Given the description of an element on the screen output the (x, y) to click on. 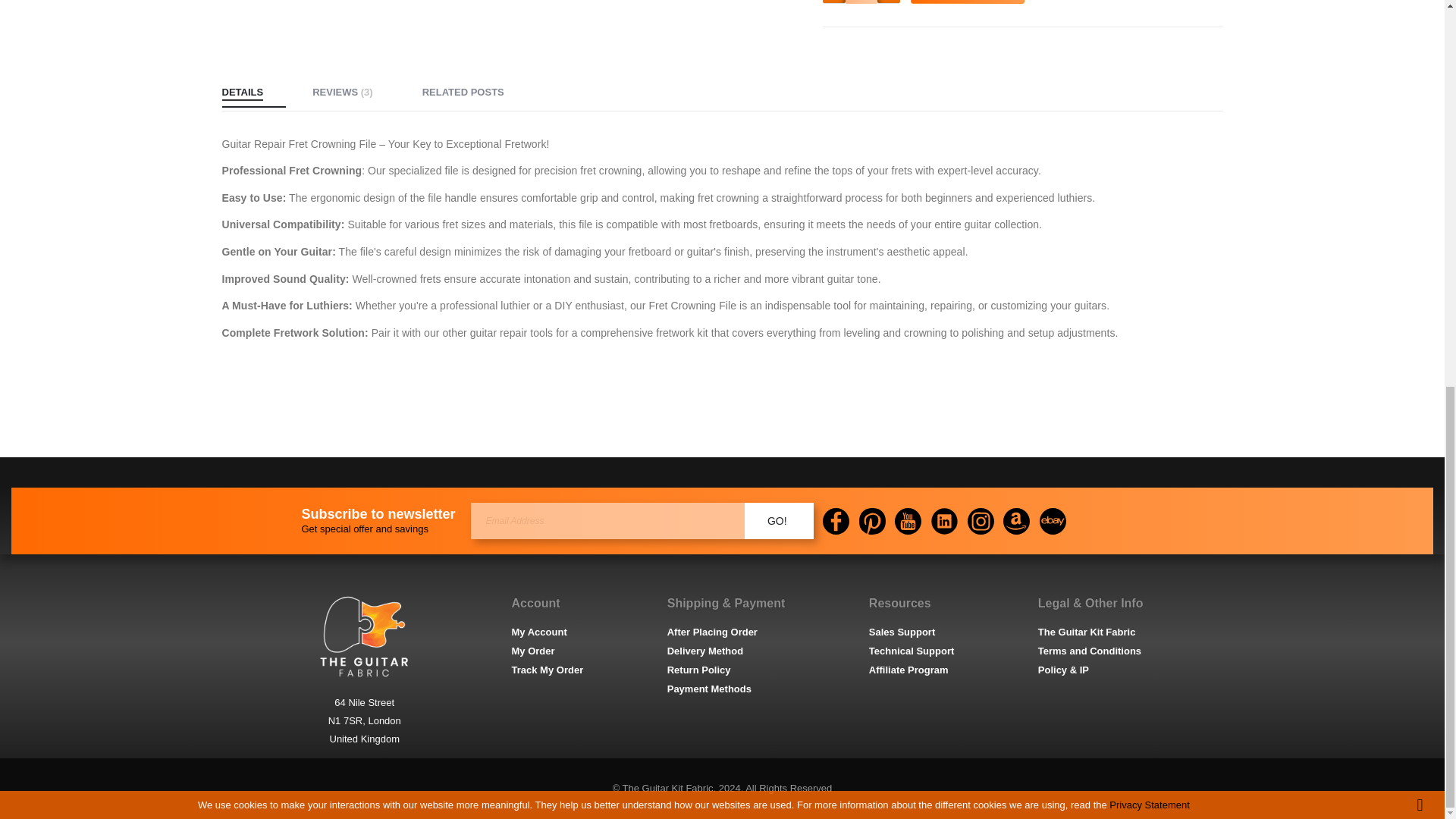
1 (860, 2)
